Given the description of an element on the screen output the (x, y) to click on. 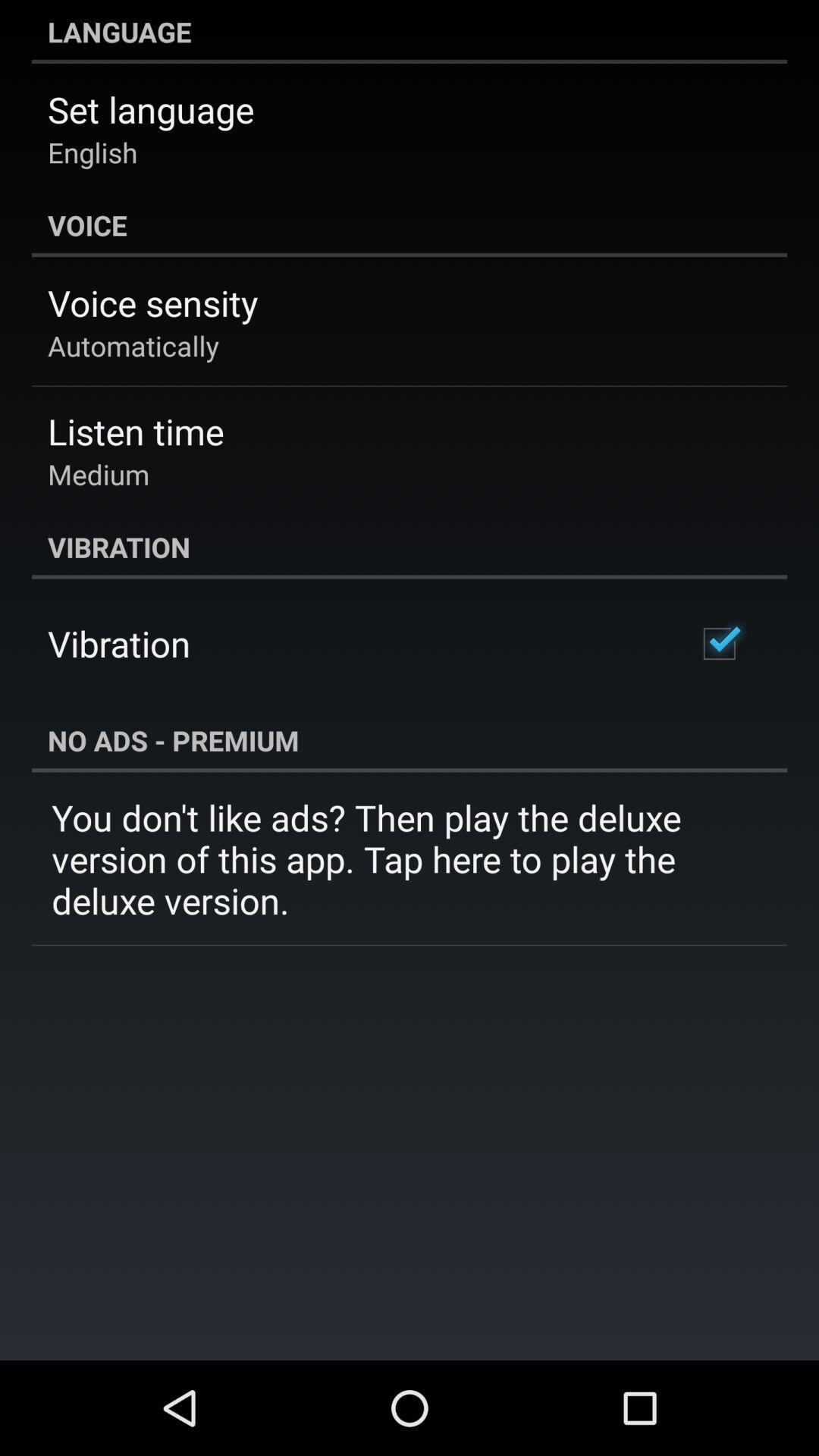
launch the item below the vibration item (719, 643)
